Given the description of an element on the screen output the (x, y) to click on. 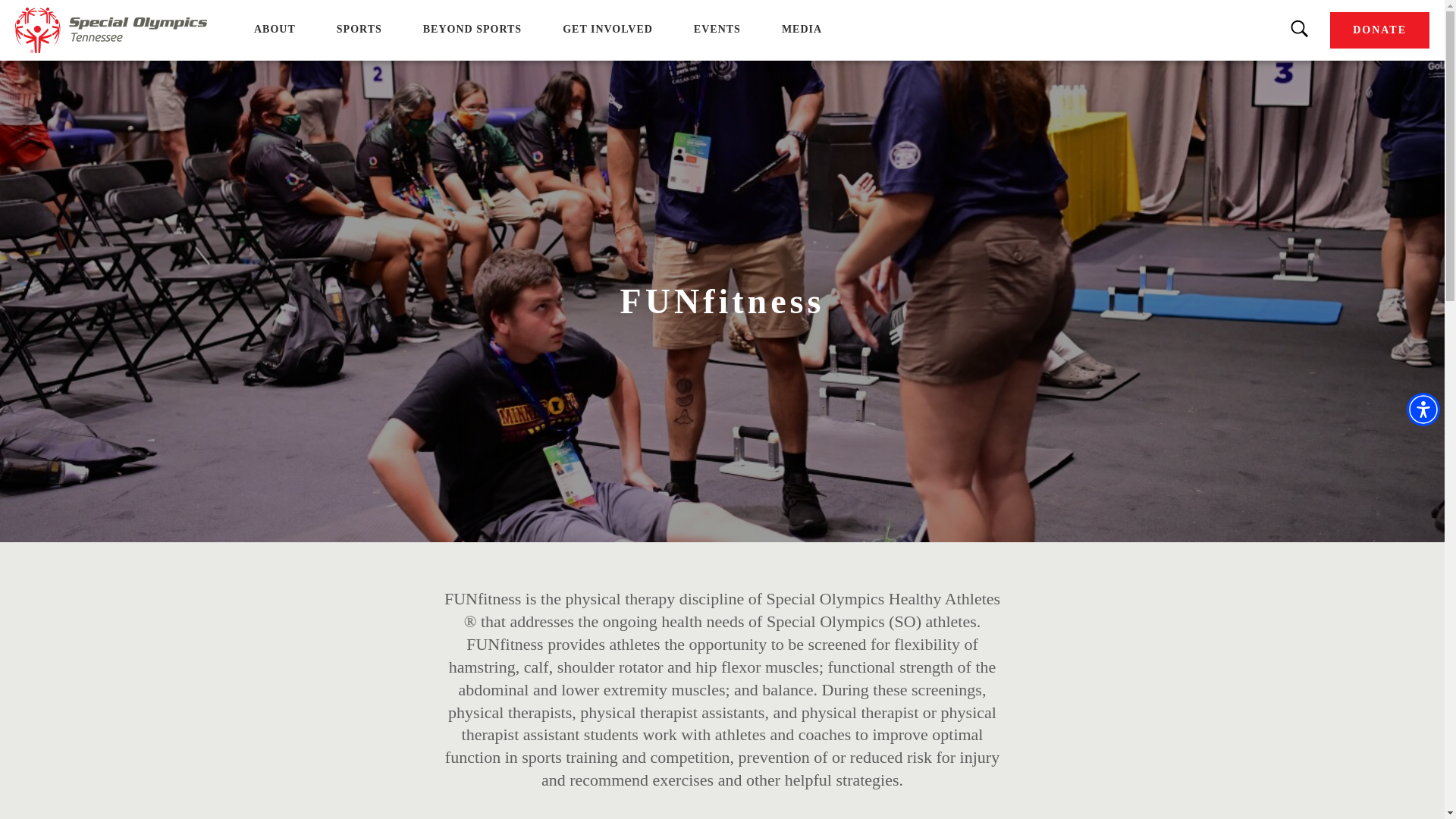
SPORTS (358, 29)
Accessibility Menu (1422, 409)
GET INVOLVED (607, 29)
BEYOND SPORTS (472, 29)
ABOUT (274, 29)
MEDIA (801, 29)
EVENTS (717, 29)
